Given the description of an element on the screen output the (x, y) to click on. 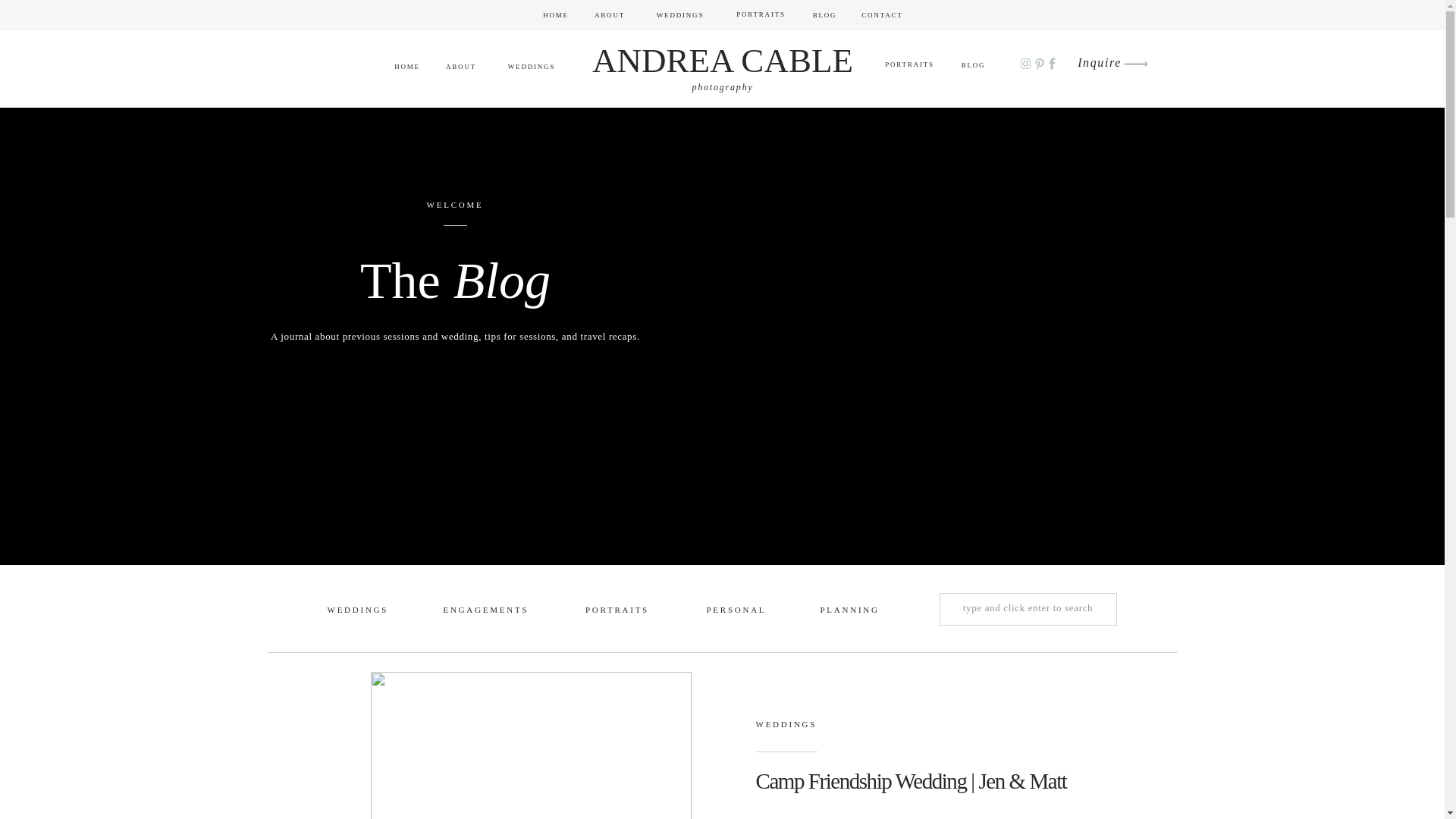
arrow (1136, 63)
HOME (555, 15)
BLOG (824, 15)
arrow (1136, 63)
BLOG (973, 65)
ANDREA CABLE (722, 48)
ABOUT (461, 67)
Inquire  (1100, 64)
PORTRAITS (616, 611)
HOME (406, 67)
WEDDINGS (357, 611)
PERSONAL (735, 611)
WEDDINGS (531, 67)
ABOUT (609, 15)
CONTACT (882, 15)
